Given the description of an element on the screen output the (x, y) to click on. 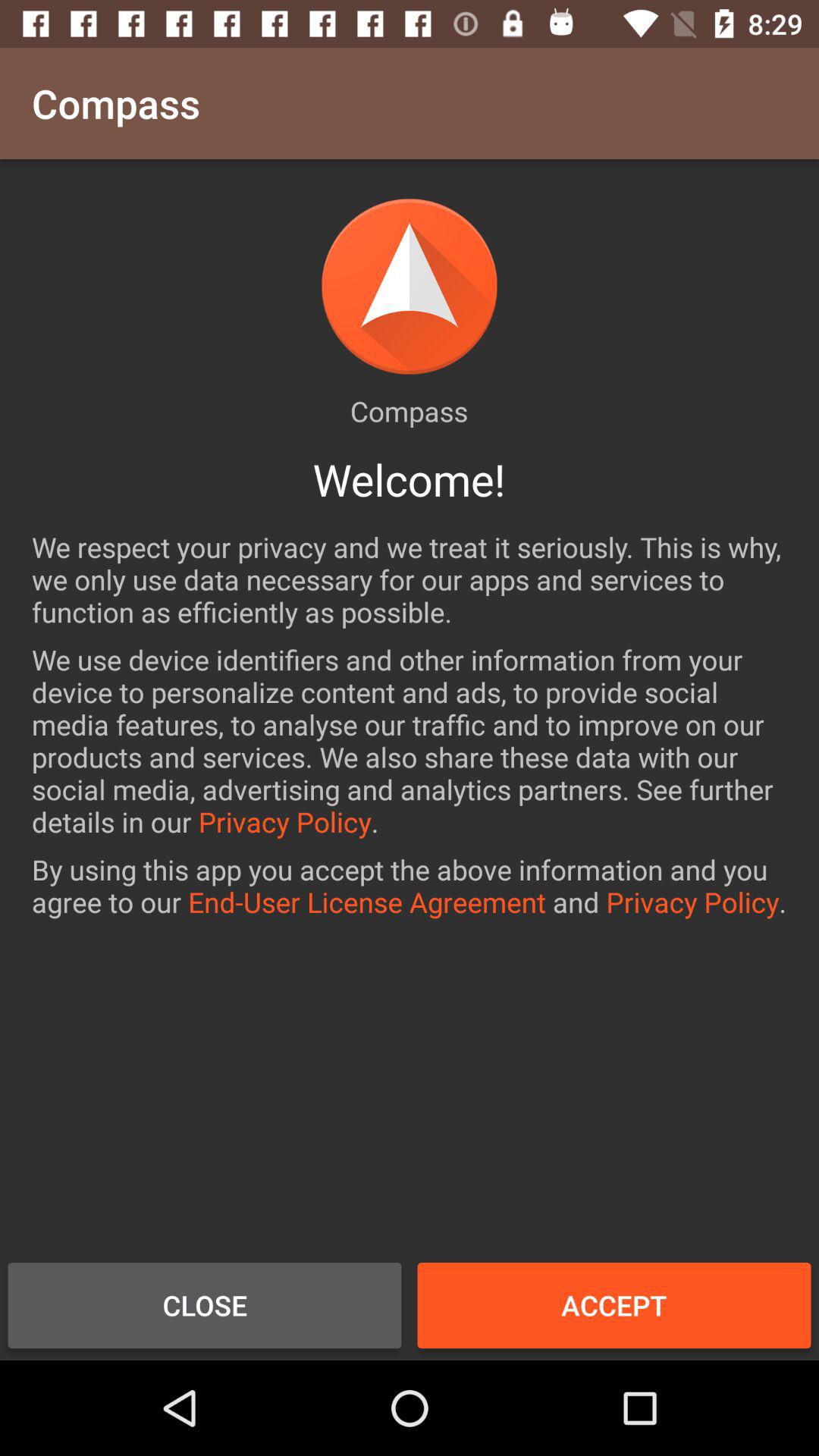
click item above the close icon (409, 885)
